Given the description of an element on the screen output the (x, y) to click on. 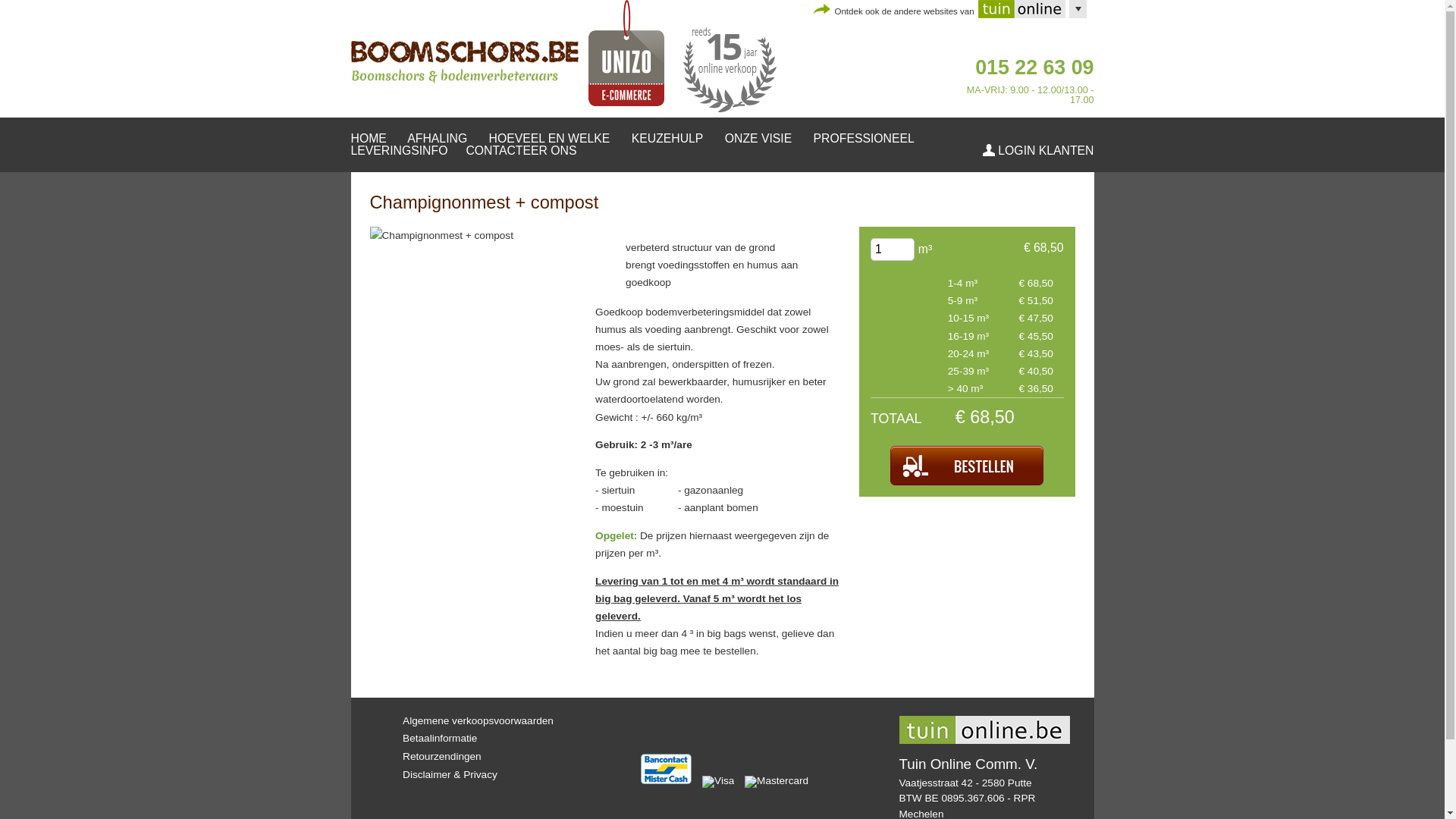
LEVERINGSINFO Element type: text (398, 150)
WINKELMANDJE Element type: text (862, 89)
Disclaimer & Privacy Element type: text (449, 774)
HOME Element type: text (367, 137)
Algemene verkoopsvoorwaarden Element type: text (477, 720)
Champignonmest + compost Element type: hover (441, 235)
Retourzendingen Element type: text (441, 756)
Betaalinformatie Element type: text (439, 737)
HOEVEEL EN WELKE Element type: text (549, 137)
CONTACTEER ONS Element type: text (520, 150)
AFHALING Element type: text (437, 137)
PROFESSIONEEL Element type: text (863, 137)
KEUZEHULP Element type: text (667, 137)
LOGIN KLANTEN Element type: text (1037, 150)
ONZE VISIE Element type: text (757, 137)
